Given the description of an element on the screen output the (x, y) to click on. 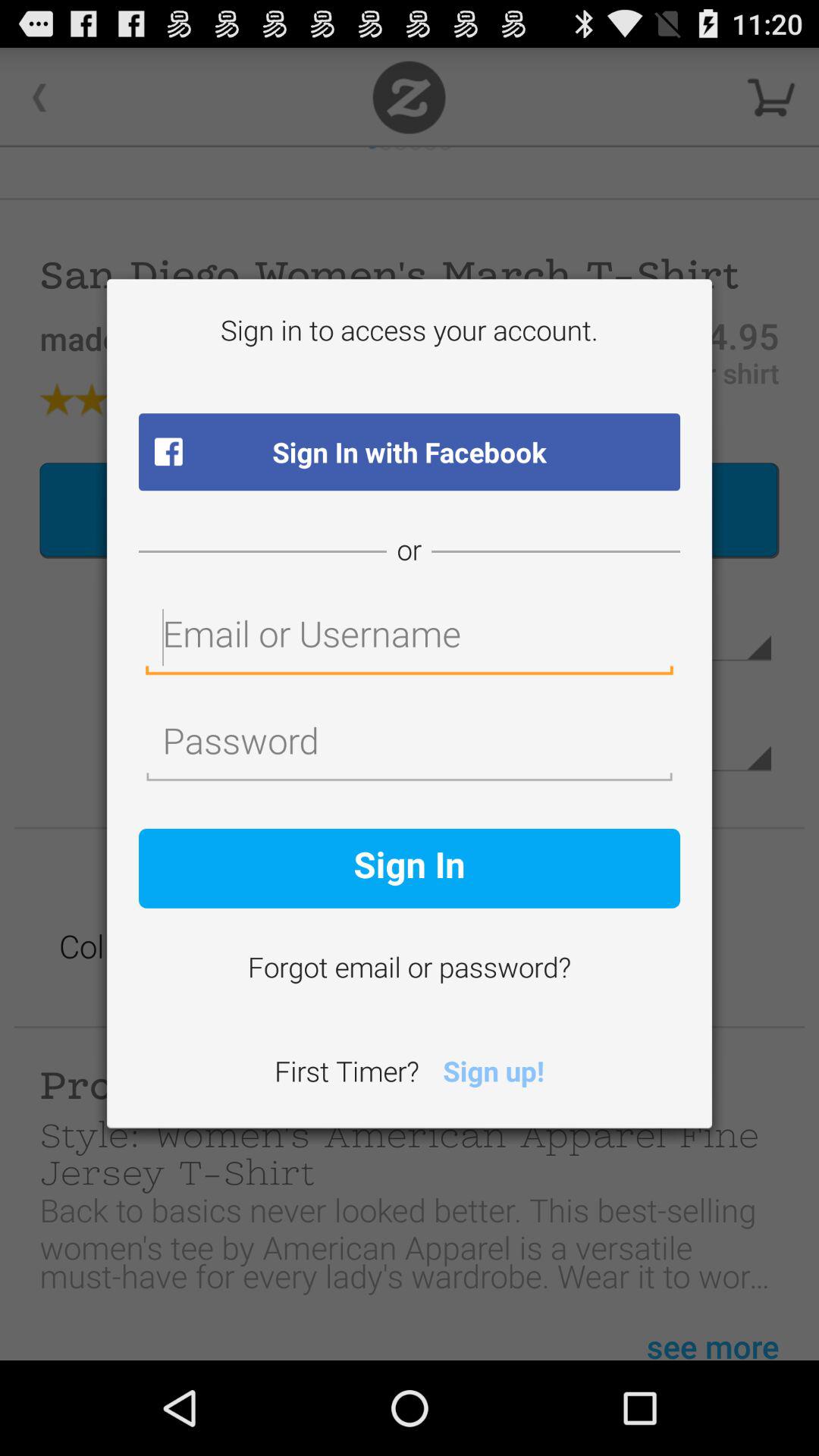
enter email or username (409, 637)
